Given the description of an element on the screen output the (x, y) to click on. 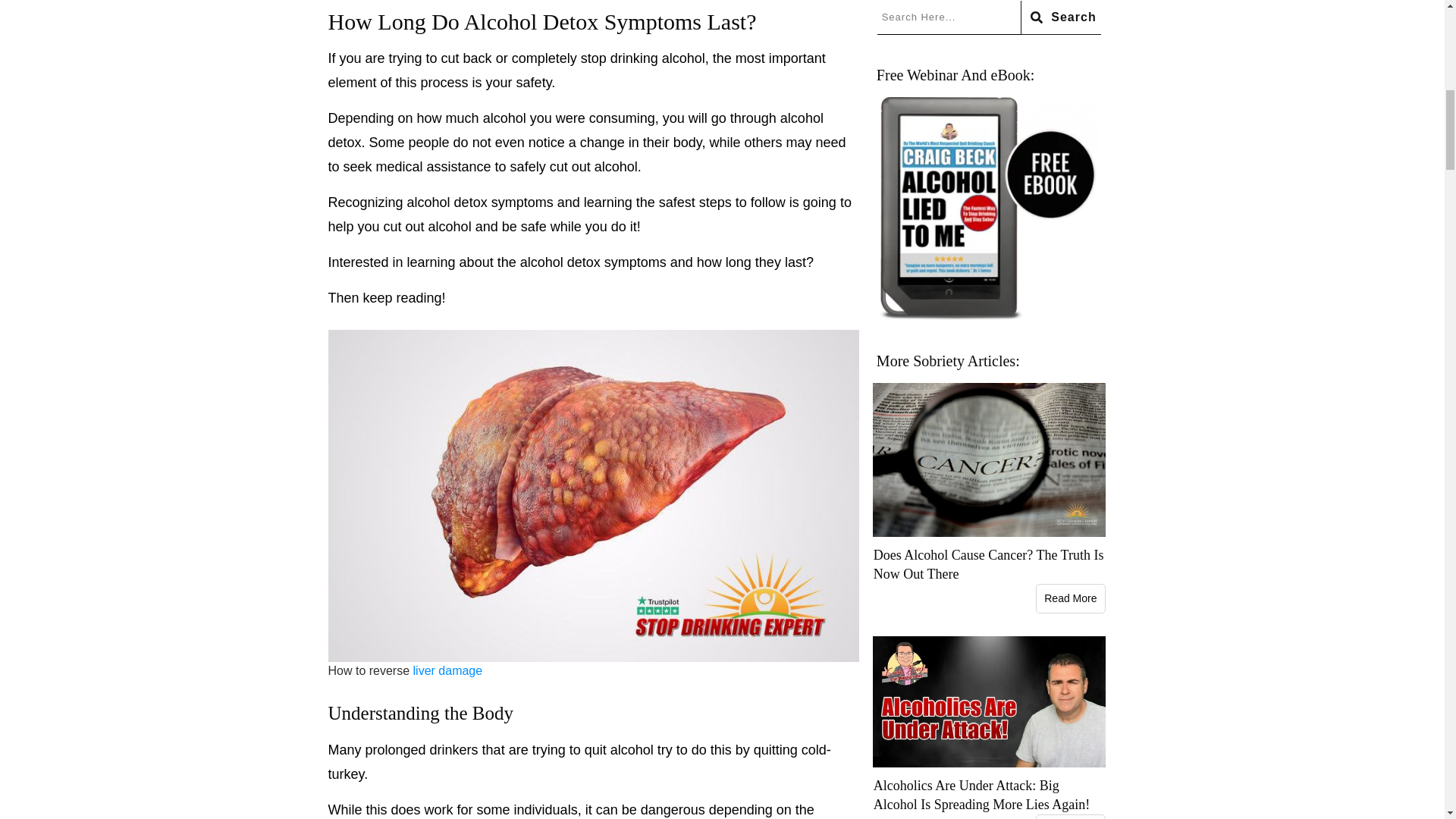
Do You Need To Quit Drinking? How To Know When It's Time (586, 154)
liver damage (448, 670)
Understanding Alcoholism Symptoms And Warning Signs (522, 201)
Stop Drinking (619, 58)
symptoms (522, 201)
need to (586, 154)
stop drinking (619, 58)
How To Reverse Liver Damage: An In-Depth Guide (448, 670)
cut back (466, 58)
